Given the description of an element on the screen output the (x, y) to click on. 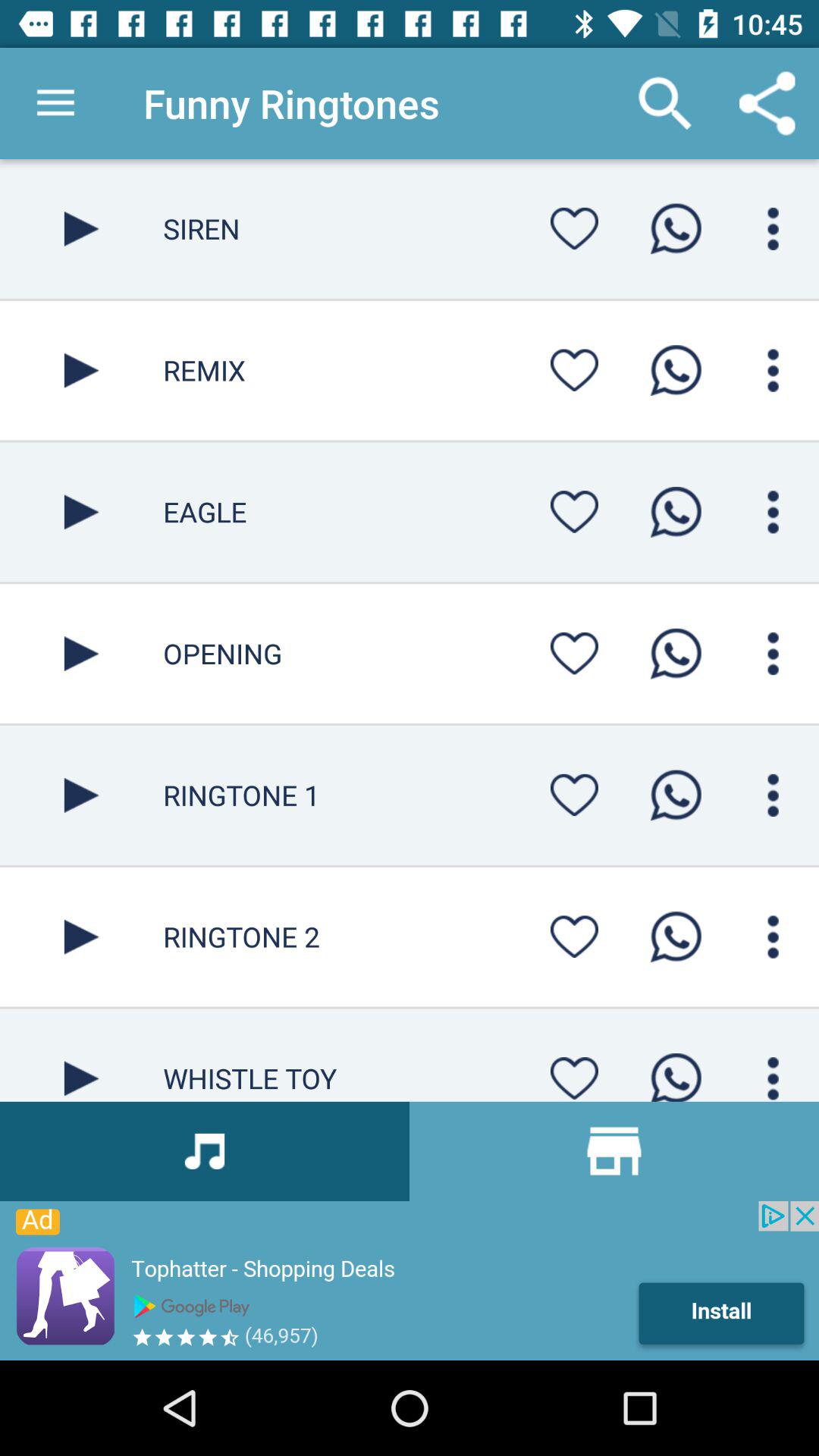
play video (81, 795)
